Given the description of an element on the screen output the (x, y) to click on. 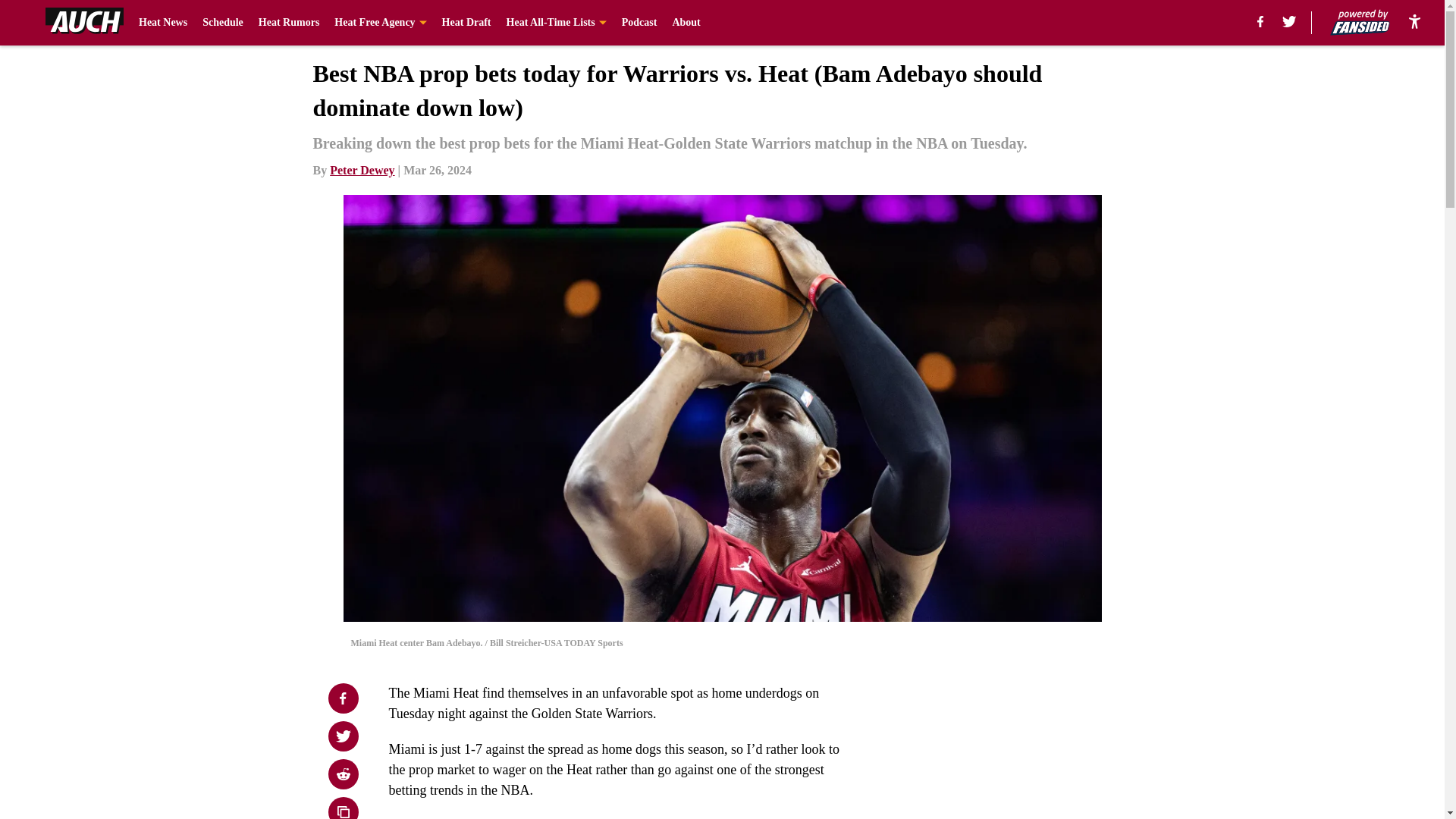
Podcast (639, 22)
Heat Draft (467, 22)
Peter Dewey (362, 169)
Heat News (162, 22)
About (685, 22)
Heat Rumors (289, 22)
Schedule (222, 22)
